Given the description of an element on the screen output the (x, y) to click on. 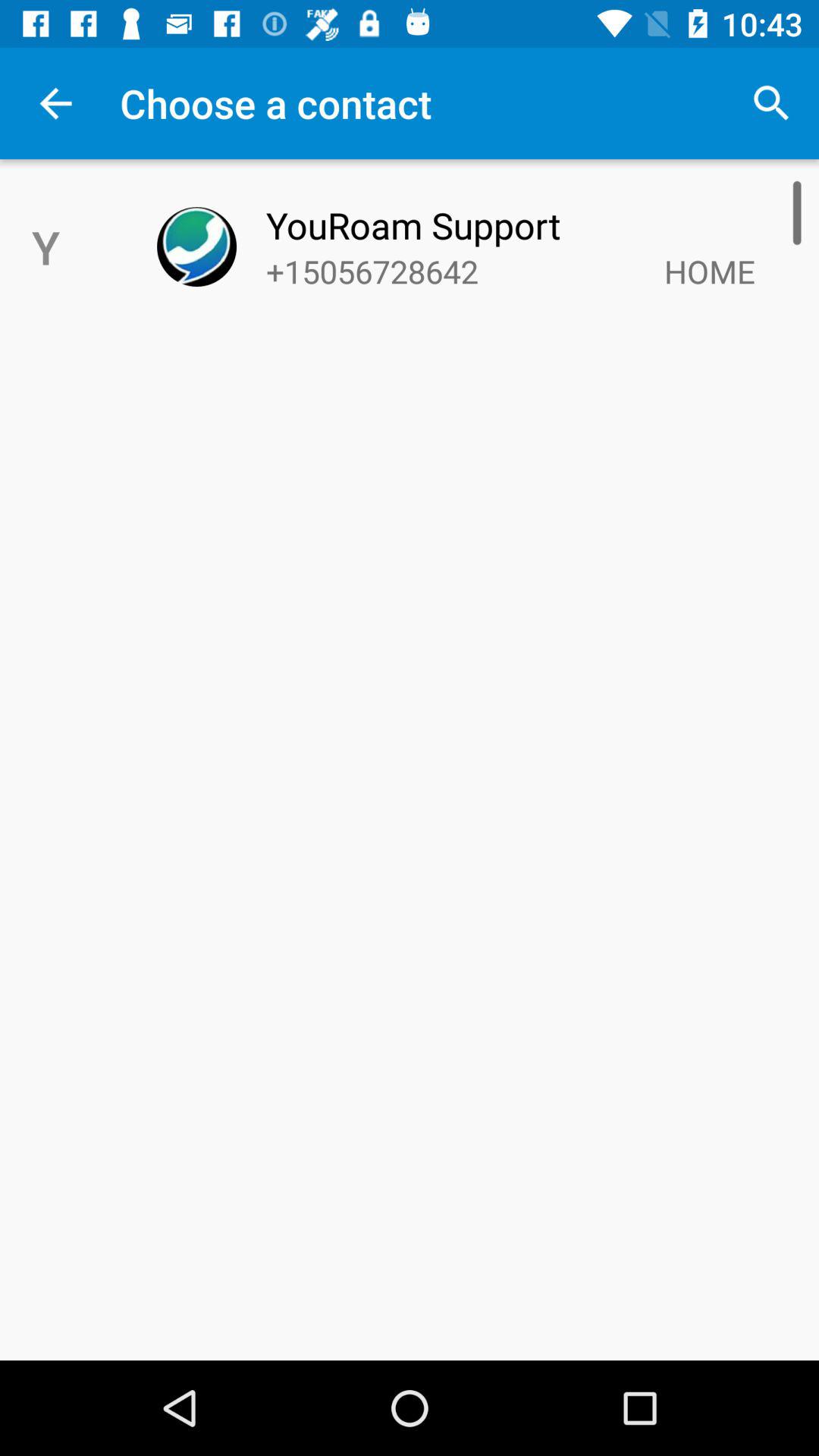
open the icon to the right of the choose a contact item (771, 103)
